Given the description of an element on the screen output the (x, y) to click on. 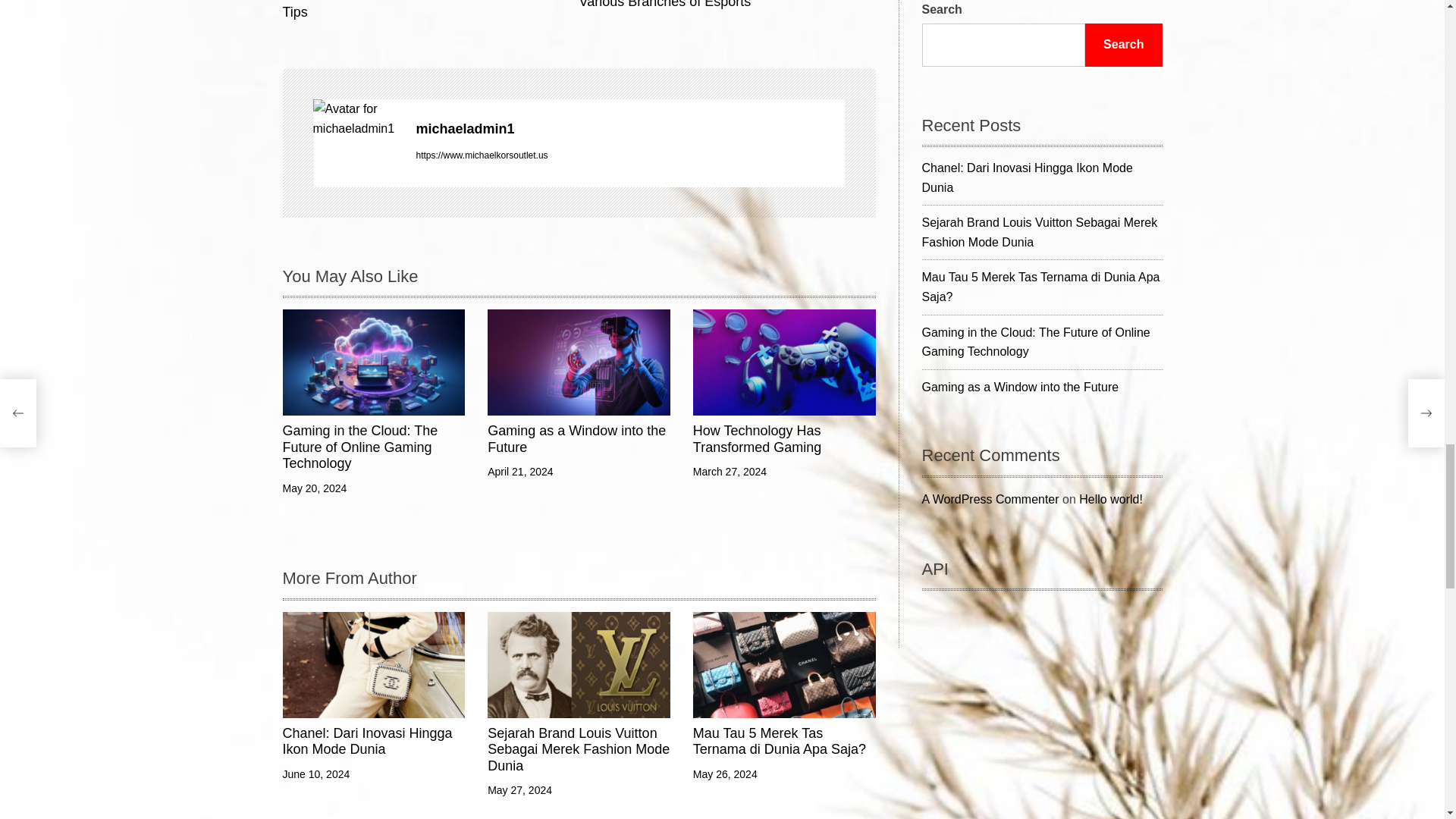
michaeladmin1 (727, 6)
michaeladmin1 (629, 128)
